Given the description of an element on the screen output the (x, y) to click on. 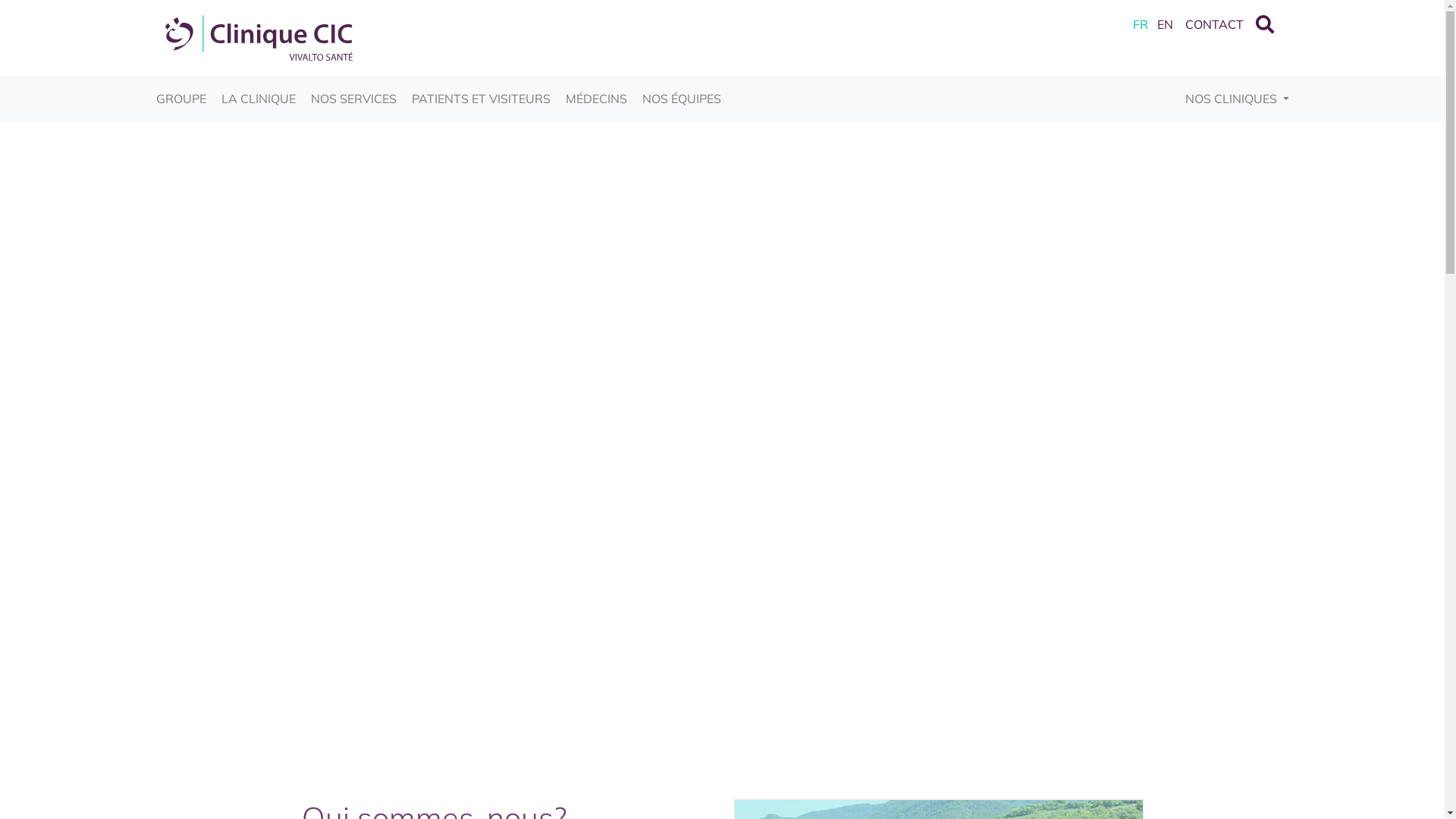
GROUPE
(CURRENT) Element type: text (181, 98)
Cliniques CIC Element type: hover (258, 35)
NOS CLINIQUES Element type: text (1237, 98)
NOS SERVICES
(CURRENT) Element type: text (353, 98)
CONTACT Element type: text (1213, 23)
FR Element type: text (1140, 23)
LA CLINIQUE
(CURRENT) Element type: text (258, 98)
PATIENTS ET VISITEURS
(CURRENT) Element type: text (480, 98)
EN Element type: text (1165, 23)
